Given the description of an element on the screen output the (x, y) to click on. 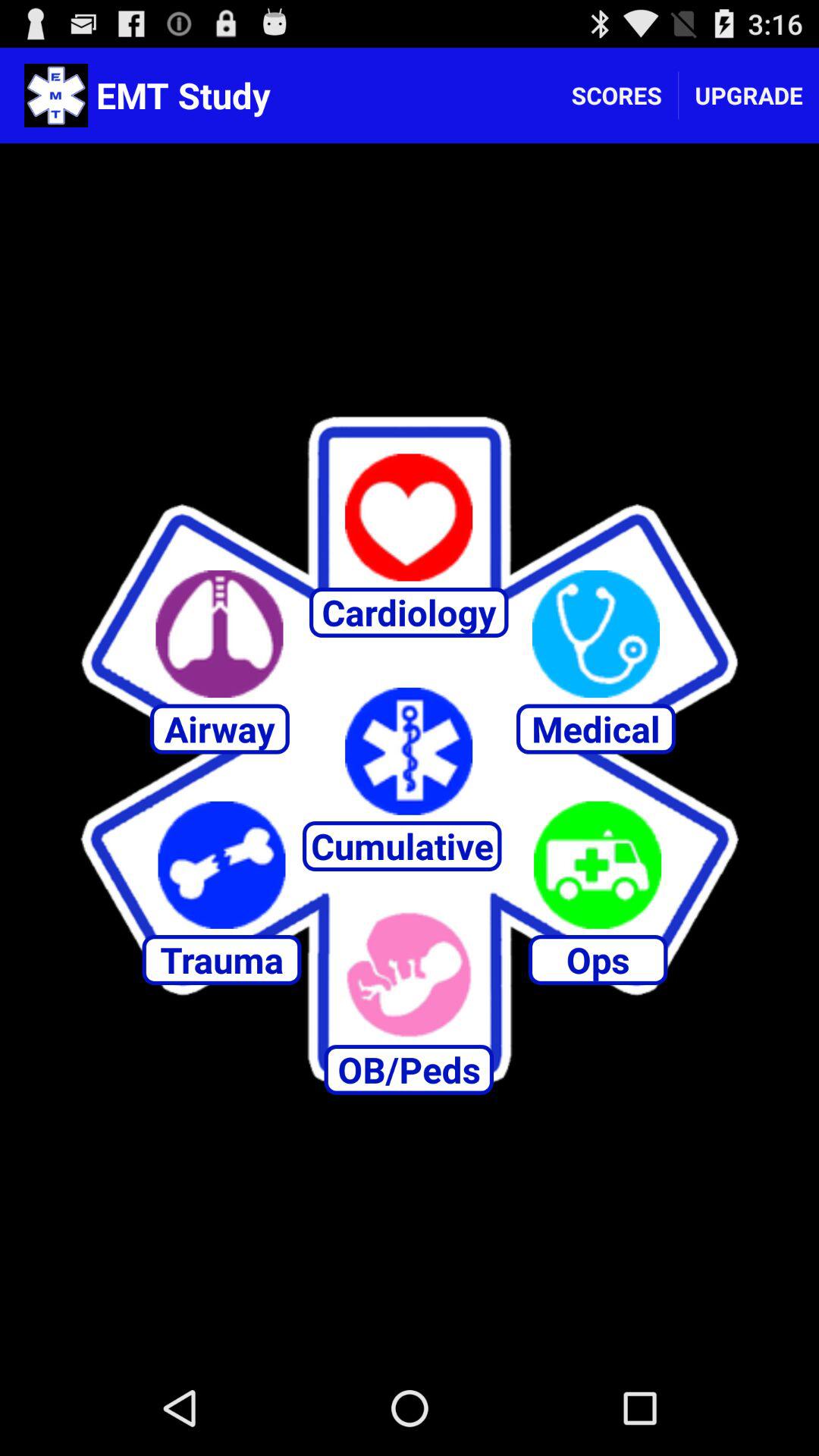
click the cardiology option (408, 517)
